Given the description of an element on the screen output the (x, y) to click on. 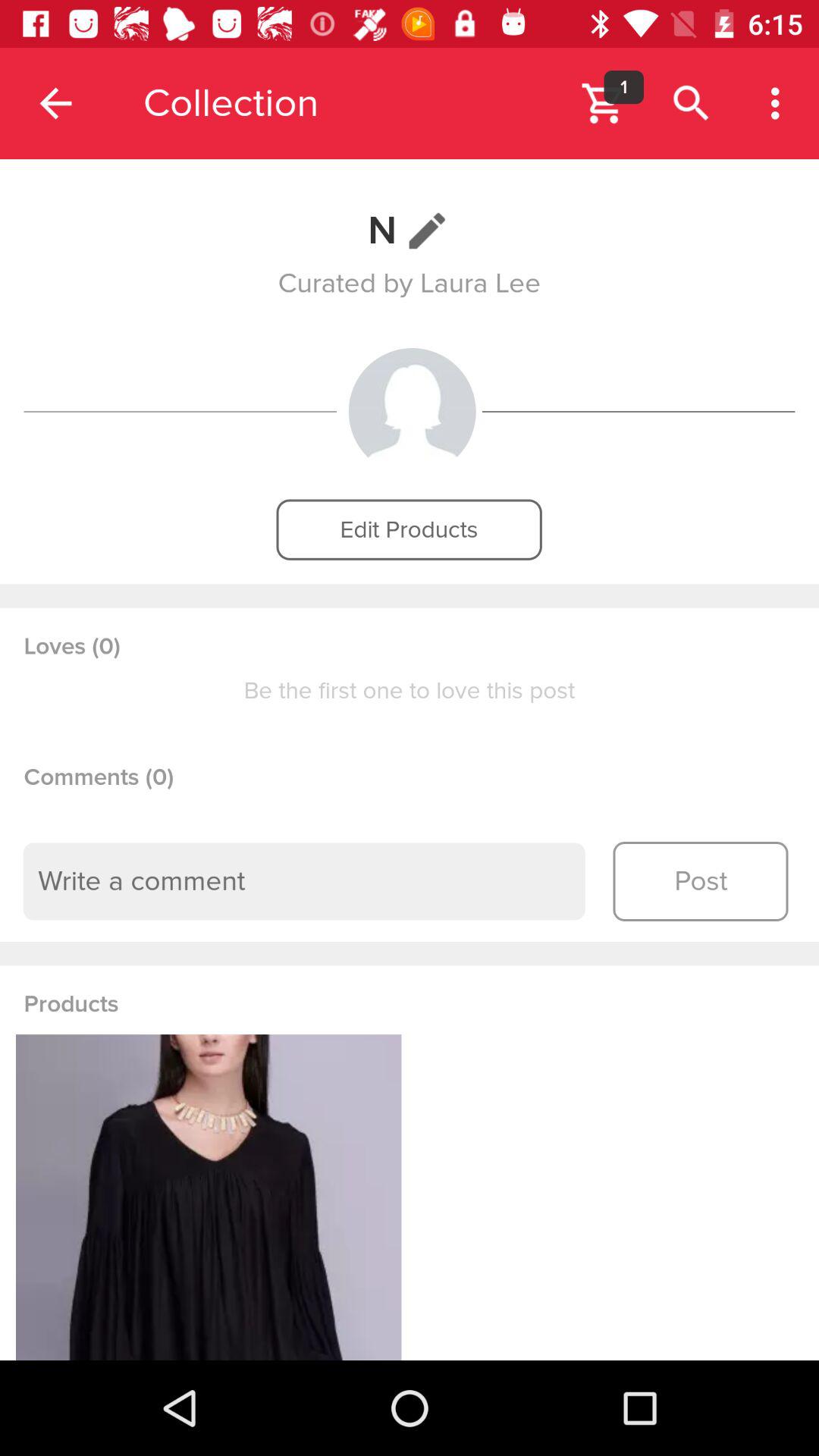
go to shopping cart (603, 103)
